Given the description of an element on the screen output the (x, y) to click on. 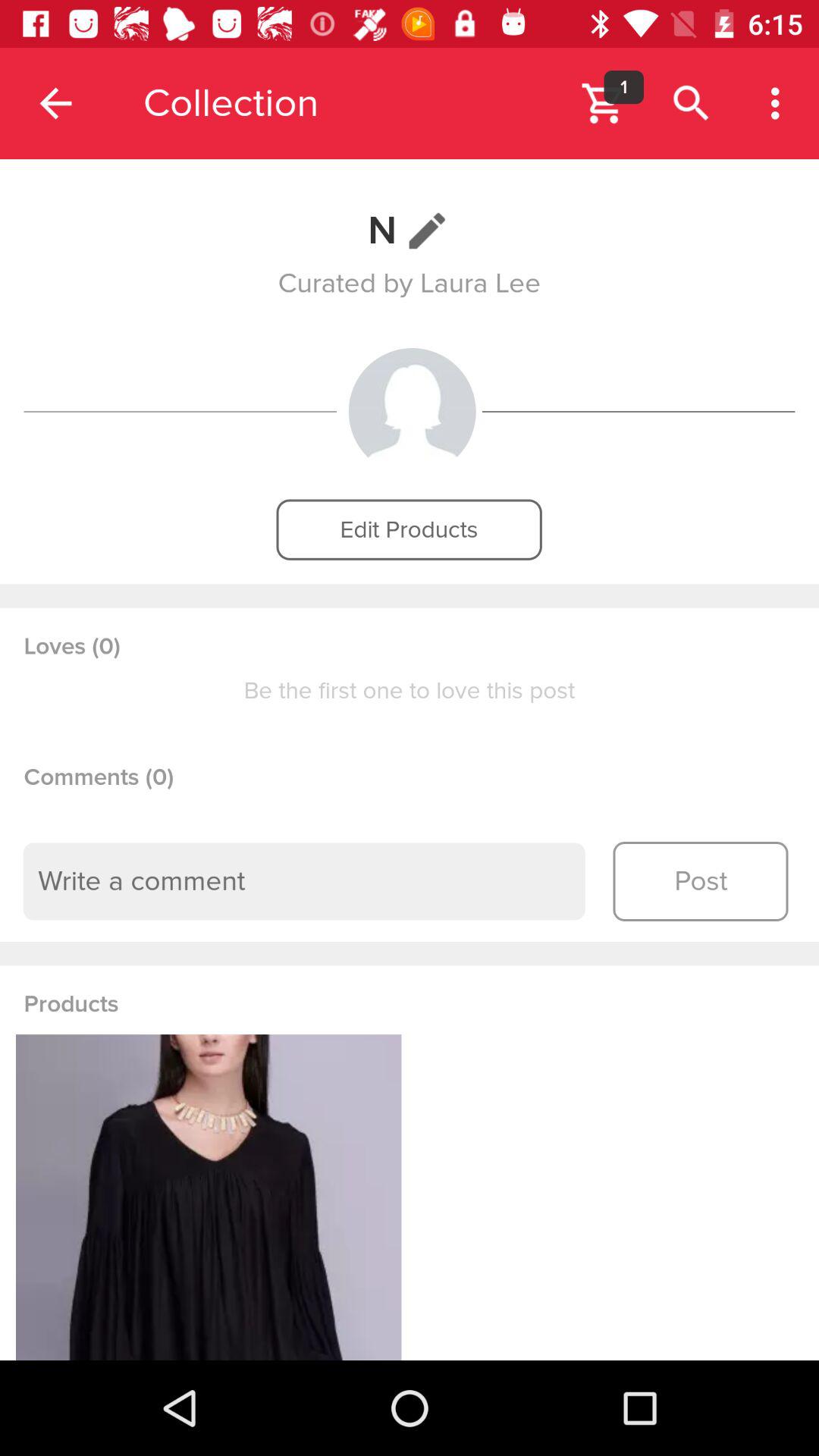
go to shopping cart (603, 103)
